Given the description of an element on the screen output the (x, y) to click on. 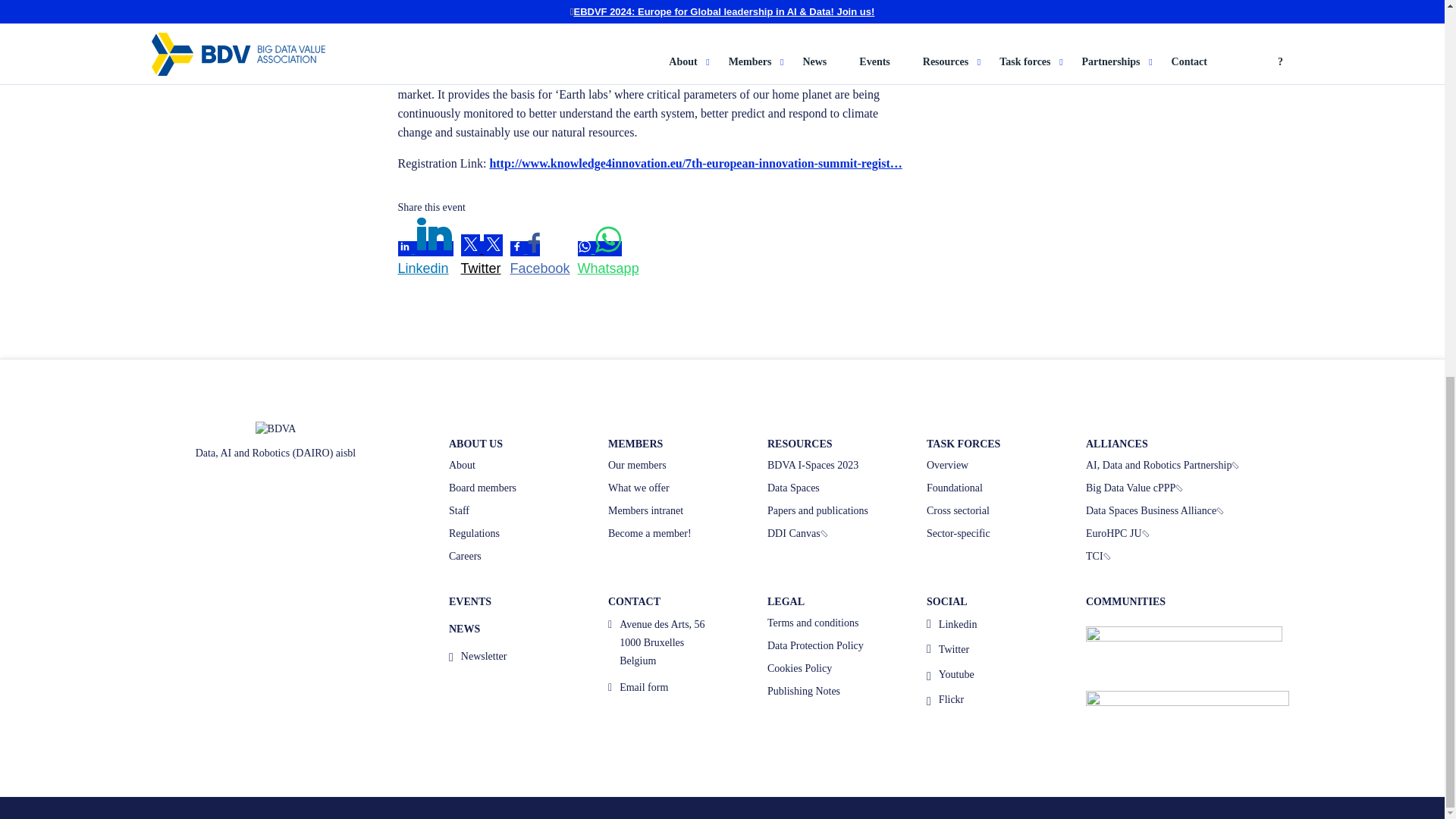
Facebook (540, 268)
Twitter (481, 268)
Whatsapp (608, 268)
Linkedin (424, 268)
